Given the description of an element on the screen output the (x, y) to click on. 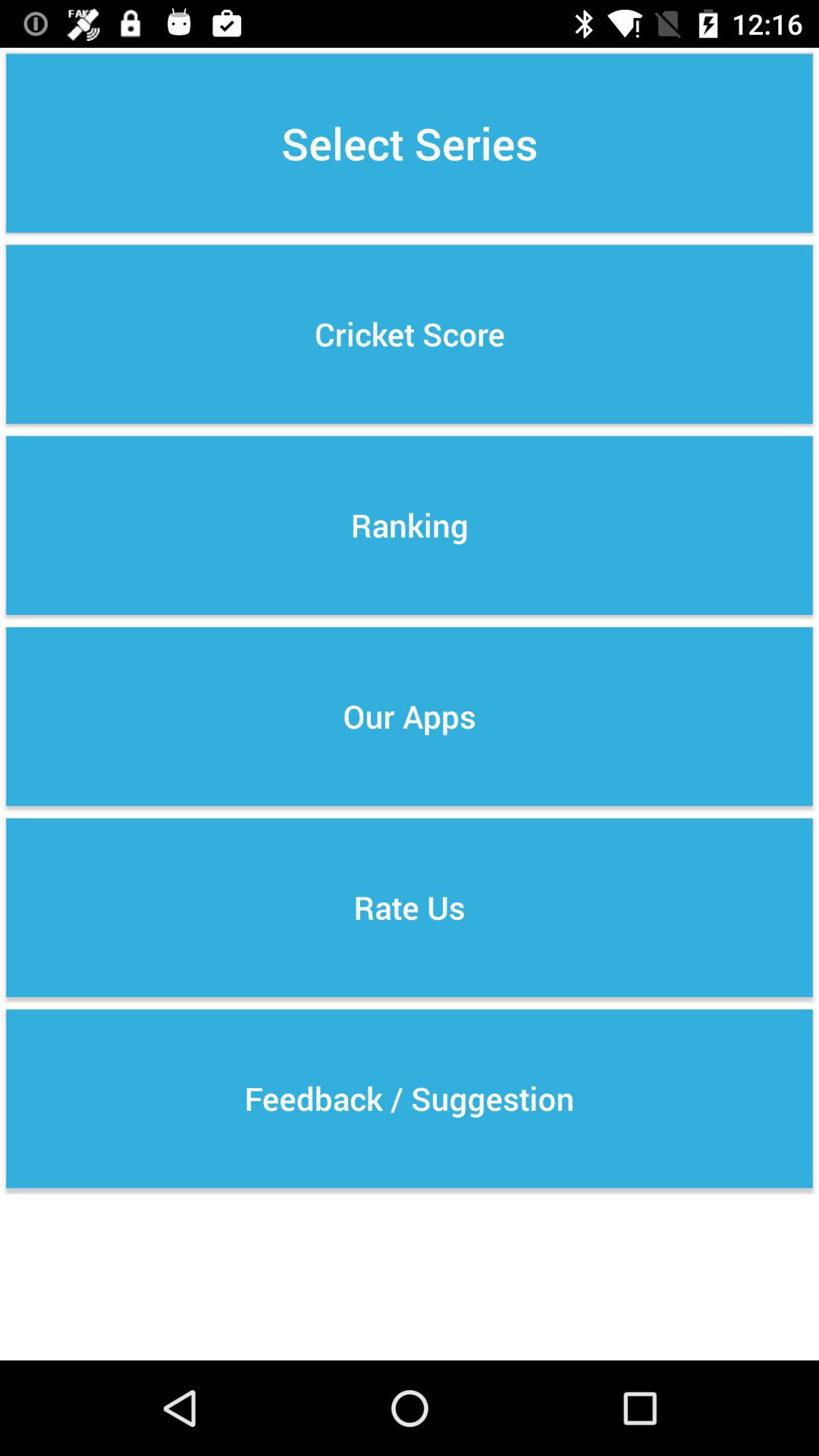
press button below the cricket score icon (409, 525)
